Given the description of an element on the screen output the (x, y) to click on. 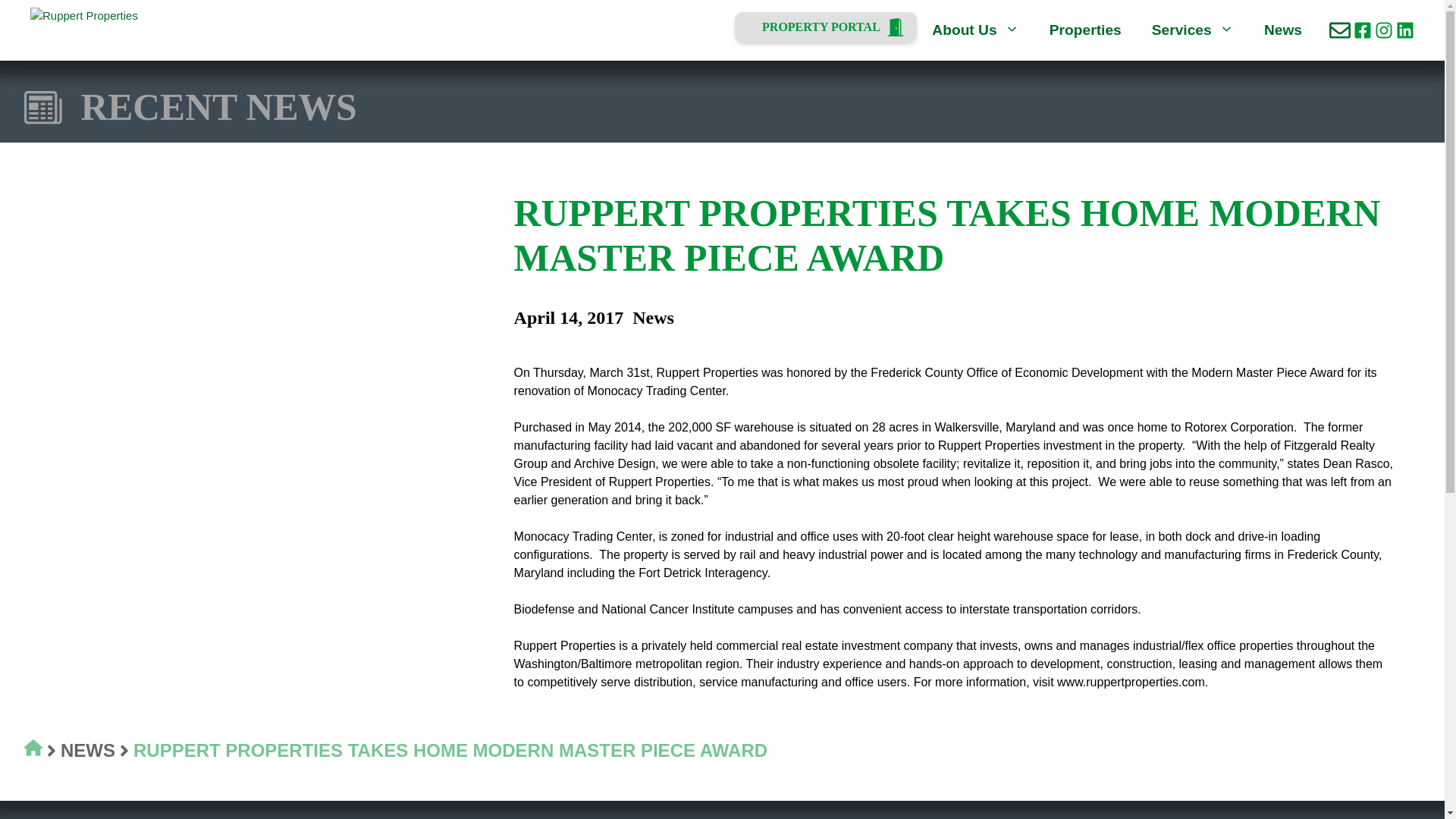
RECENT NEWS (218, 106)
News (1283, 30)
NEWS (88, 750)
Ruppert Properties (108, 30)
RUPPERT PROPERTIES TAKES HOME MODERN MASTER PIECE AWARD (450, 750)
Properties (1085, 30)
PROPERTY PORTAL (826, 27)
Services (1193, 30)
About Us (975, 30)
